Given the description of an element on the screen output the (x, y) to click on. 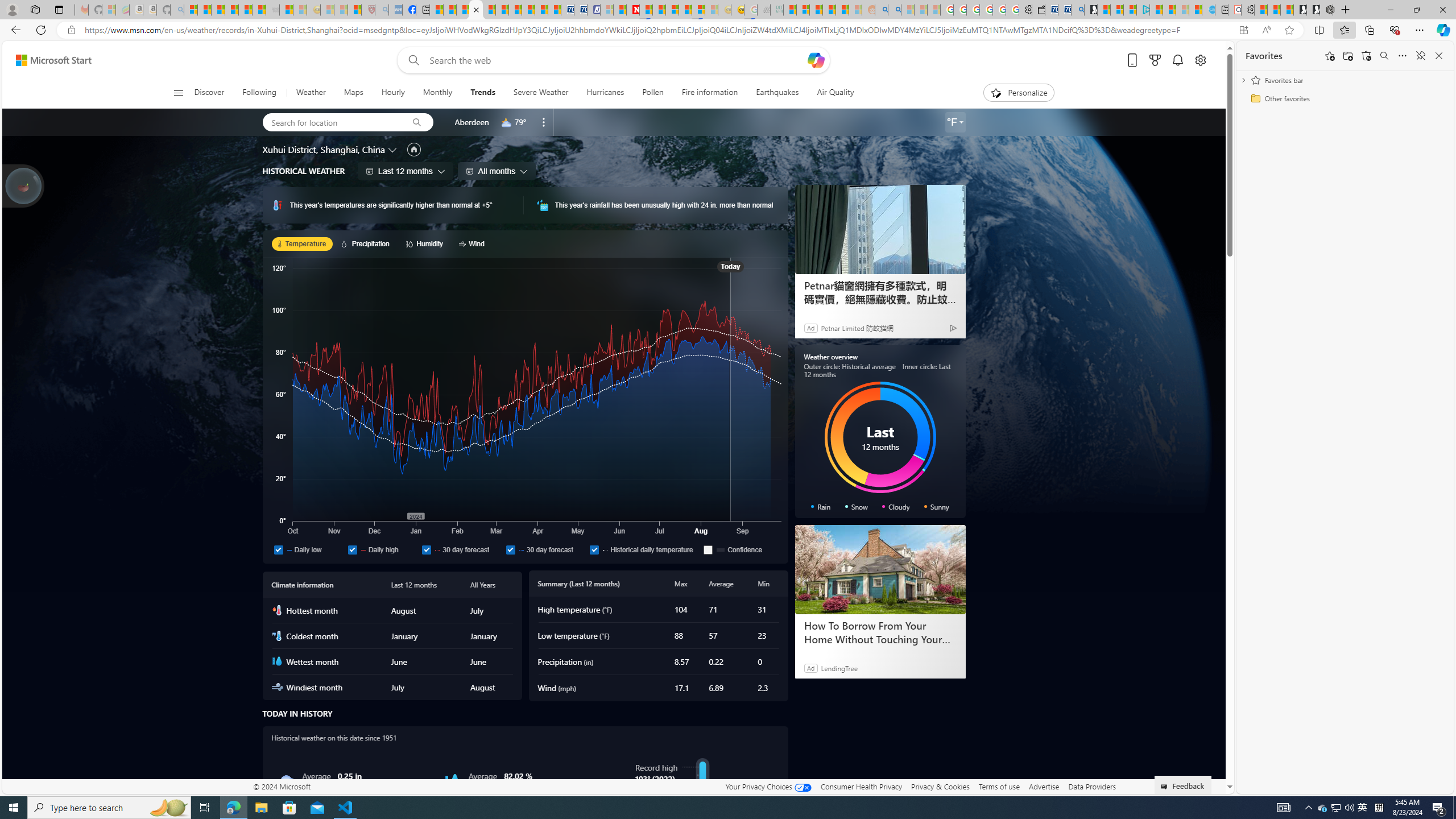
Restore deleted favorites (1366, 55)
Wallet (1037, 9)
Air Quality (831, 92)
Utah sues federal government - Search (894, 9)
New Report Confirms 2023 Was Record Hot | Watch (245, 9)
LendingTree (839, 668)
Daily high (351, 549)
